Given the description of an element on the screen output the (x, y) to click on. 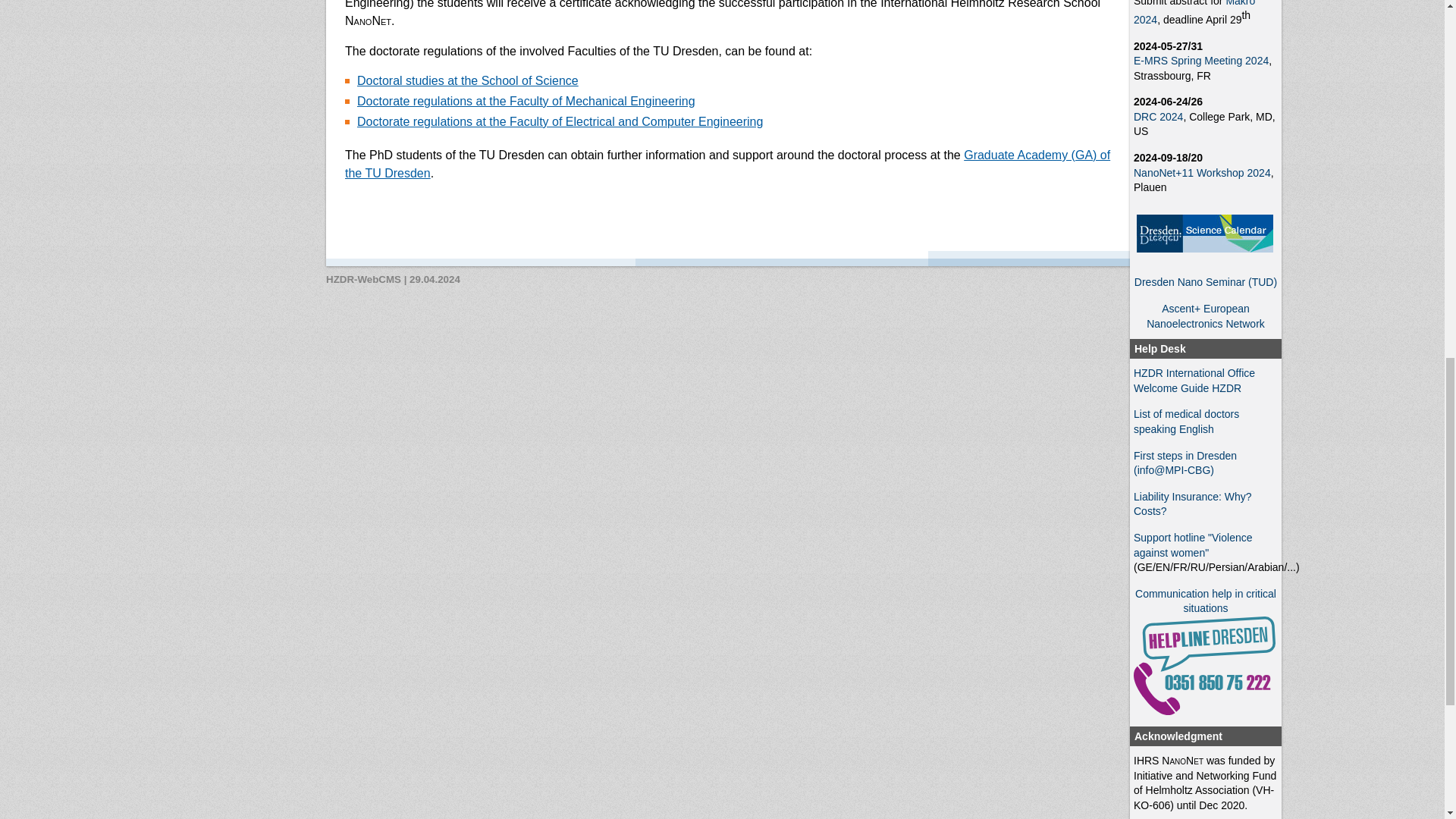
Logo Science Calendar (1203, 233)
